Given the description of an element on the screen output the (x, y) to click on. 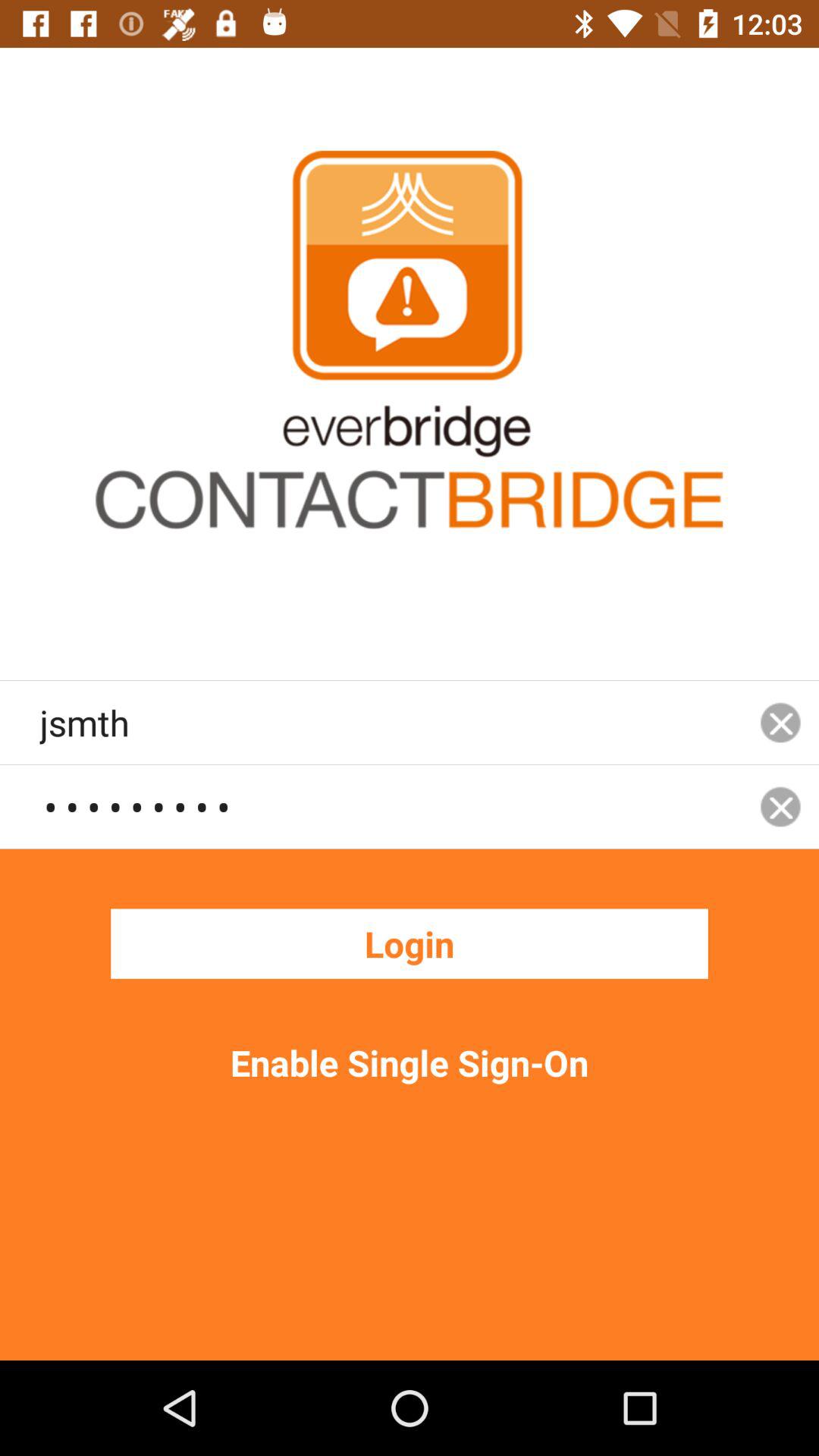
flip until crowd3116 item (390, 806)
